Given the description of an element on the screen output the (x, y) to click on. 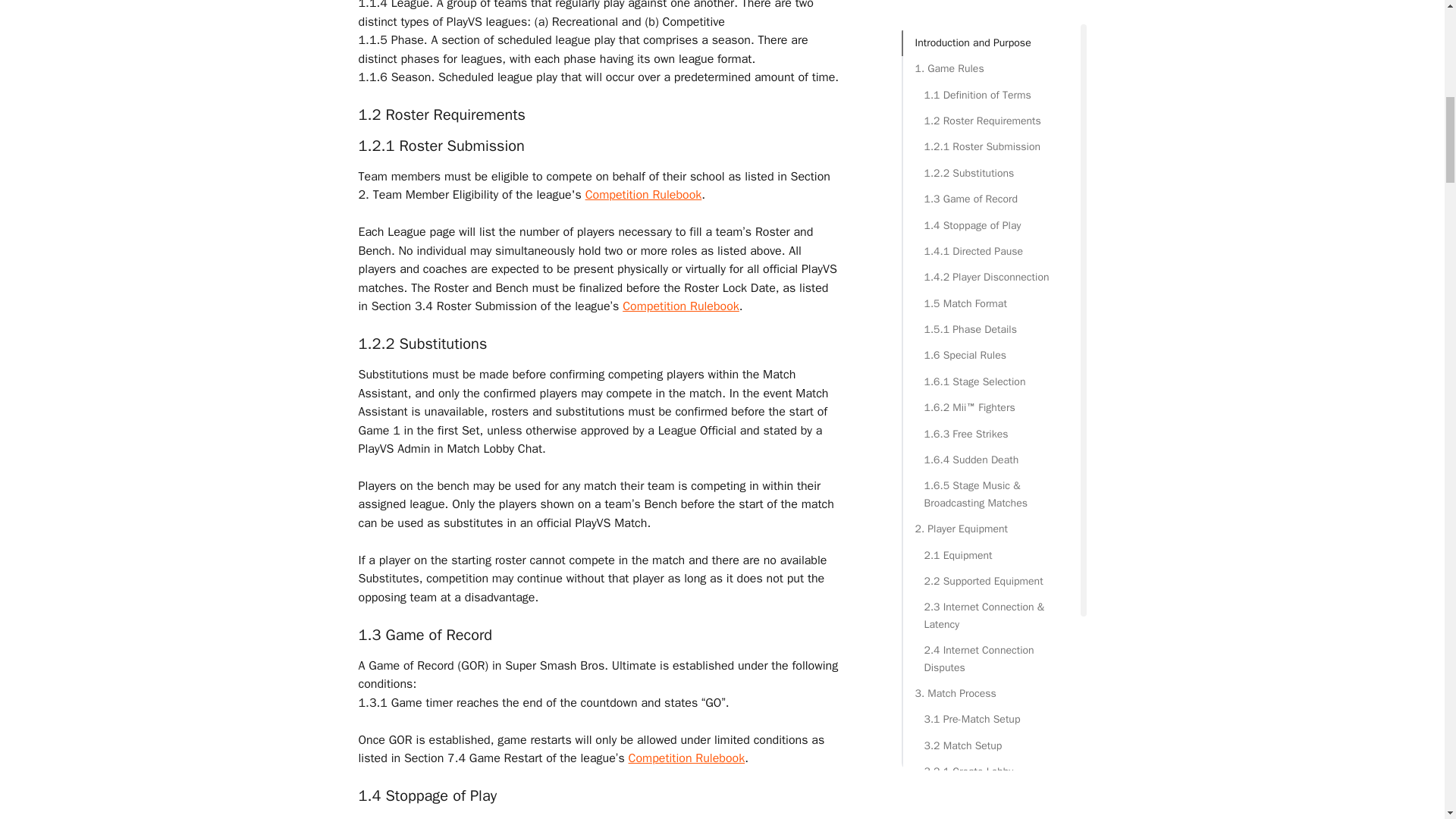
3.3.2 In-Game Content Updates (990, 276)
4.1 Results (990, 336)
3.2 Match Setup (990, 136)
3.2.1 Create Lobby (990, 162)
4. Post-Match Process (990, 310)
3.3 Match F.A.Q (990, 215)
3. Match Process (990, 84)
2.4 Internet Connection Disputes (990, 50)
3.3.1 Spectating (990, 240)
3.1 Pre-Match Setup (990, 110)
